Given the description of an element on the screen output the (x, y) to click on. 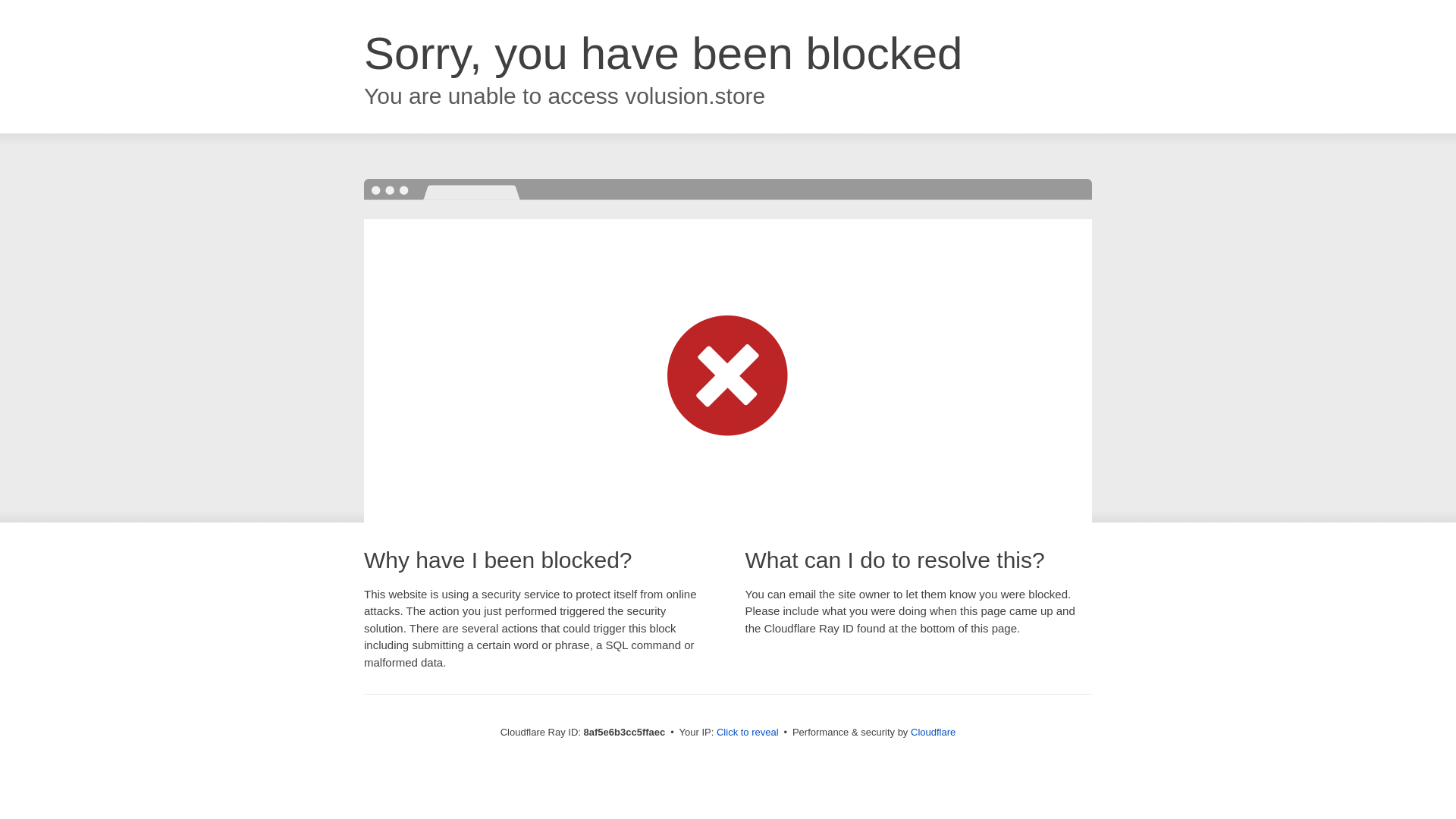
Click to reveal (747, 732)
Cloudflare (933, 731)
